Given the description of an element on the screen output the (x, y) to click on. 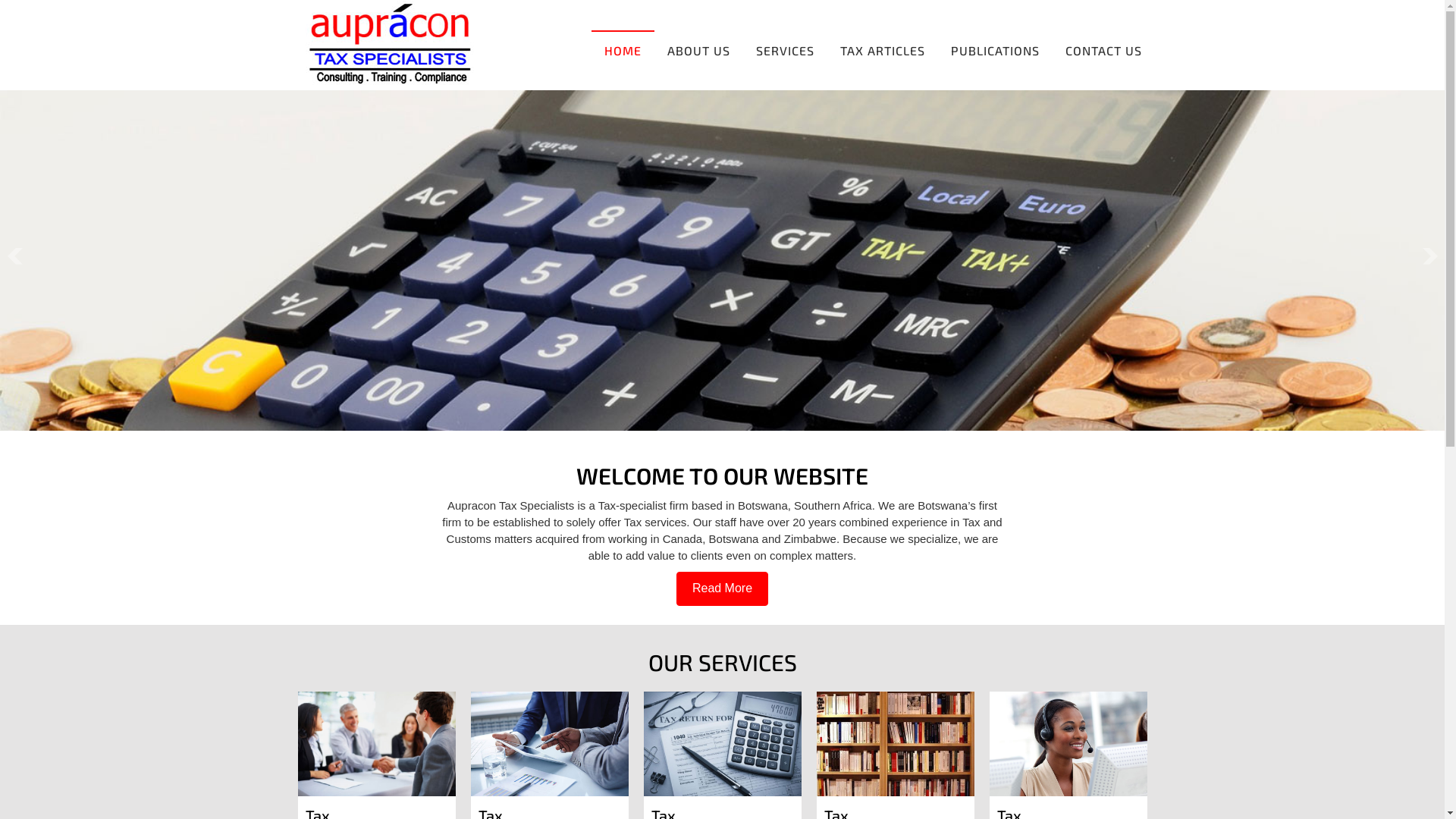
Next Element type: text (1429, 255)
TAX ARTICLES Element type: text (881, 49)
PUBLICATIONS Element type: text (994, 49)
CONTACT US Element type: text (1103, 49)
SERVICES Element type: text (785, 49)
Read More Element type: text (722, 588)
ABOUT US Element type: text (697, 49)
Previous Element type: text (14, 255)
HOME Element type: text (622, 49)
